Given the description of an element on the screen output the (x, y) to click on. 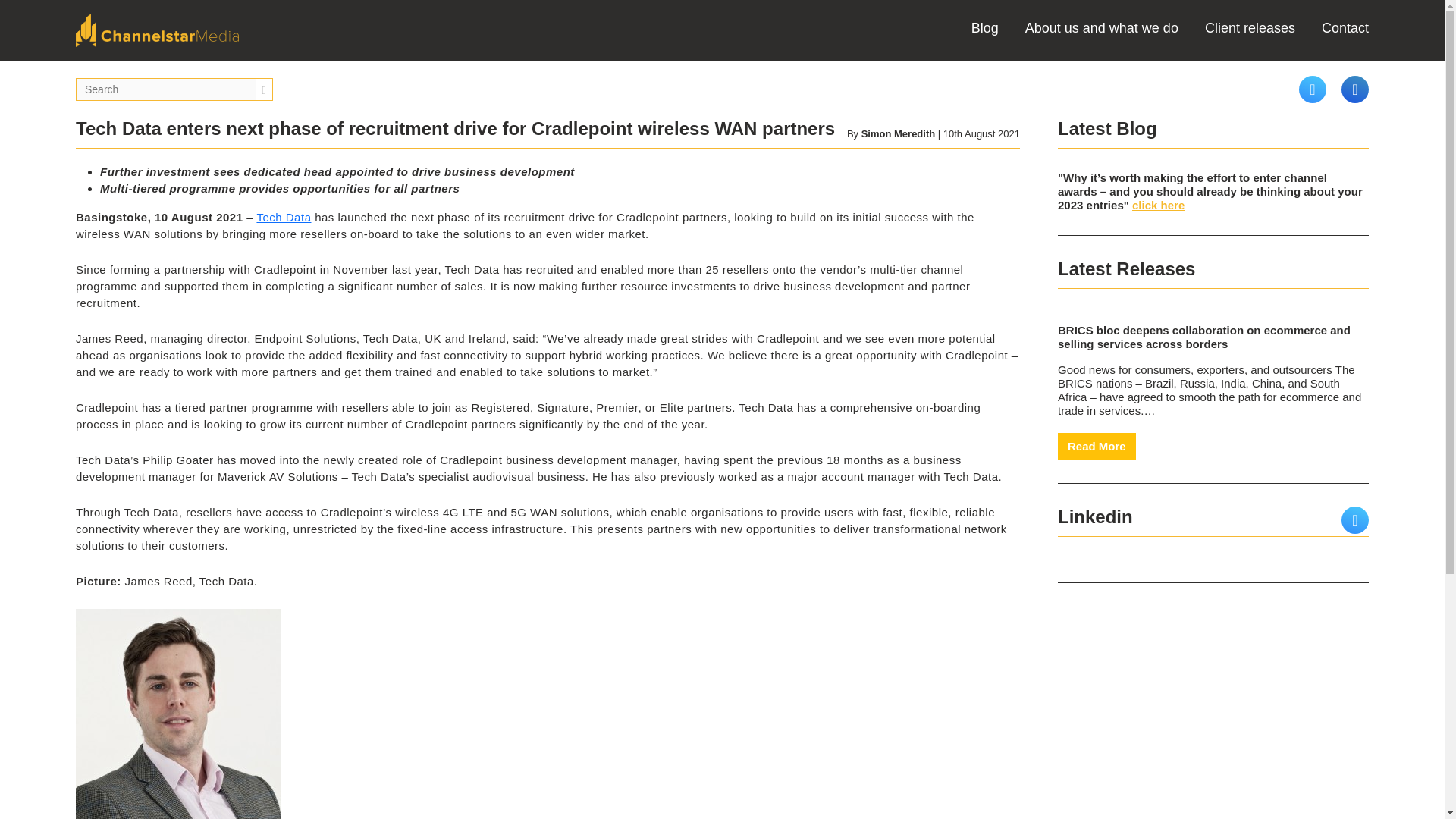
About us and what we do (1101, 28)
Client releases (1250, 28)
click here (1158, 205)
Tech Data (283, 216)
Read More (1096, 447)
Blog (984, 28)
Contact (1345, 28)
